Given the description of an element on the screen output the (x, y) to click on. 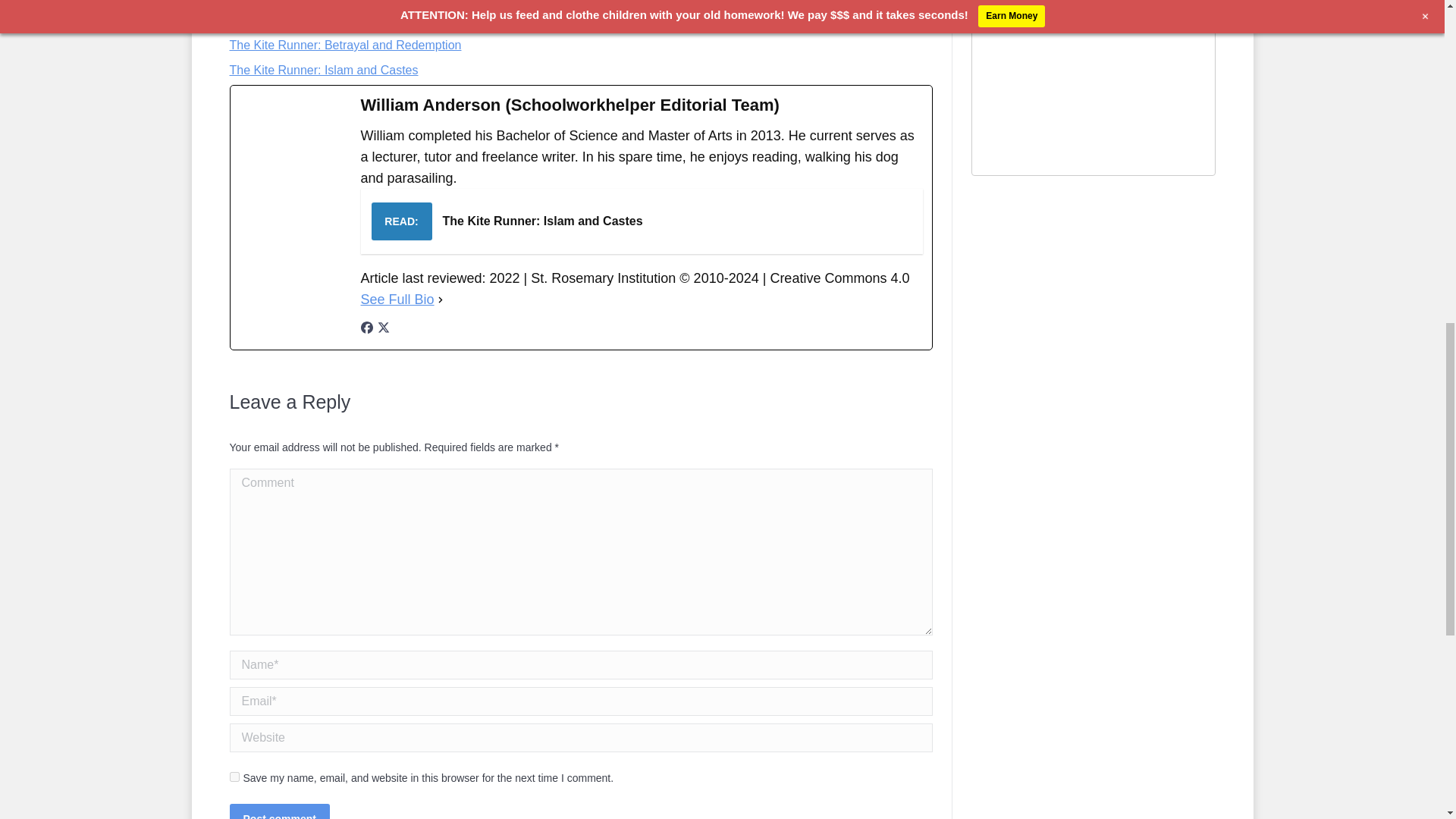
The Kite Runner: Islam and Castes (322, 69)
yes (233, 777)
Kite Runner Essay: Remorse Leads to Redemption (365, 19)
Post comment (278, 811)
The Kite Runner: Betrayal and Redemption (344, 44)
See Full Bio (397, 299)
